Given the description of an element on the screen output the (x, y) to click on. 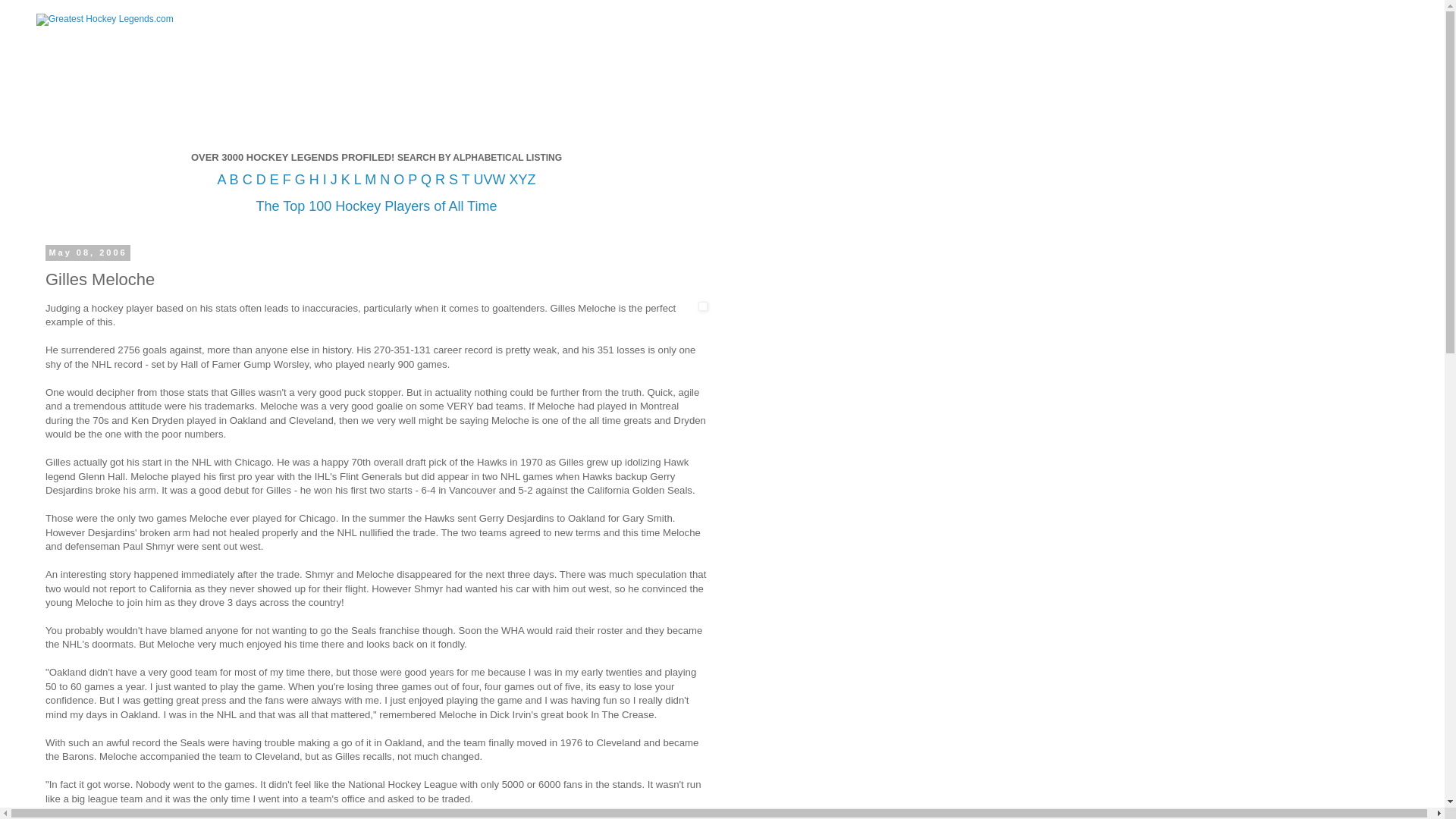
XYZ (521, 179)
UVW (489, 179)
The Top 100 Hockey Players of All Time (376, 207)
